Given the description of an element on the screen output the (x, y) to click on. 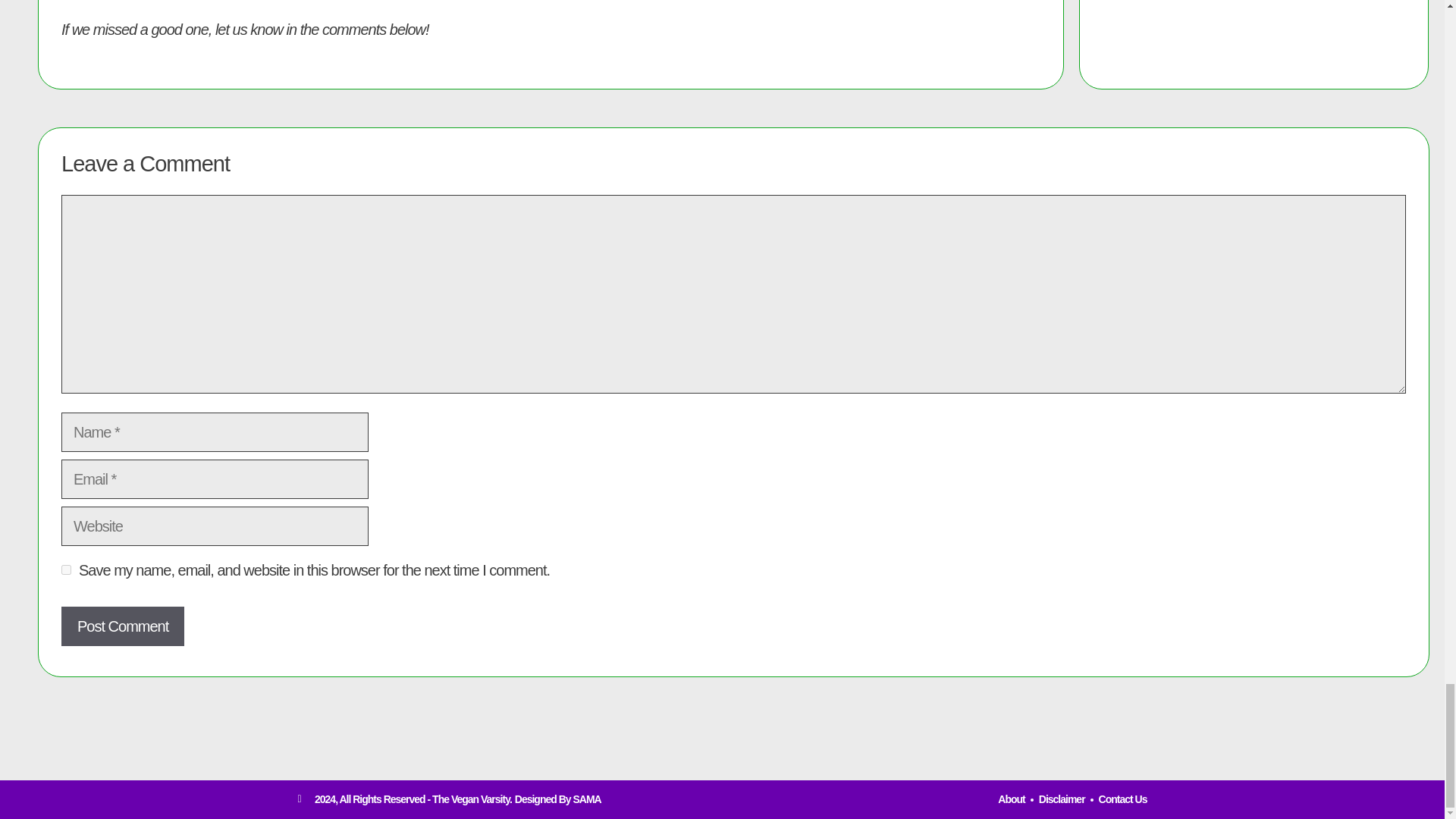
yes (66, 569)
Post Comment (122, 626)
